Given the description of an element on the screen output the (x, y) to click on. 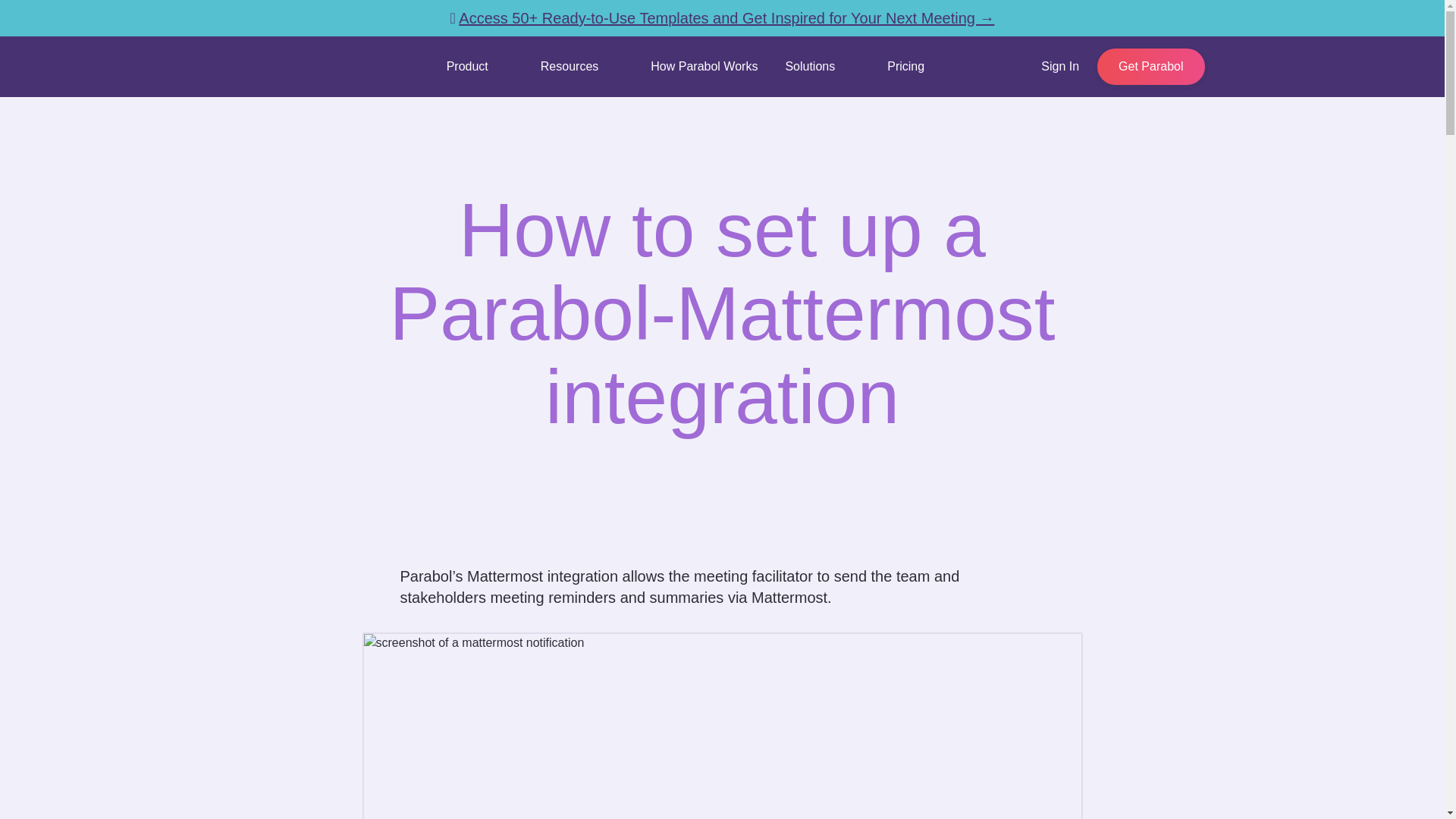
Pricing (905, 66)
Sign In (1059, 66)
Get Parabol (1150, 66)
How Parabol Works (703, 66)
